Given the description of an element on the screen output the (x, y) to click on. 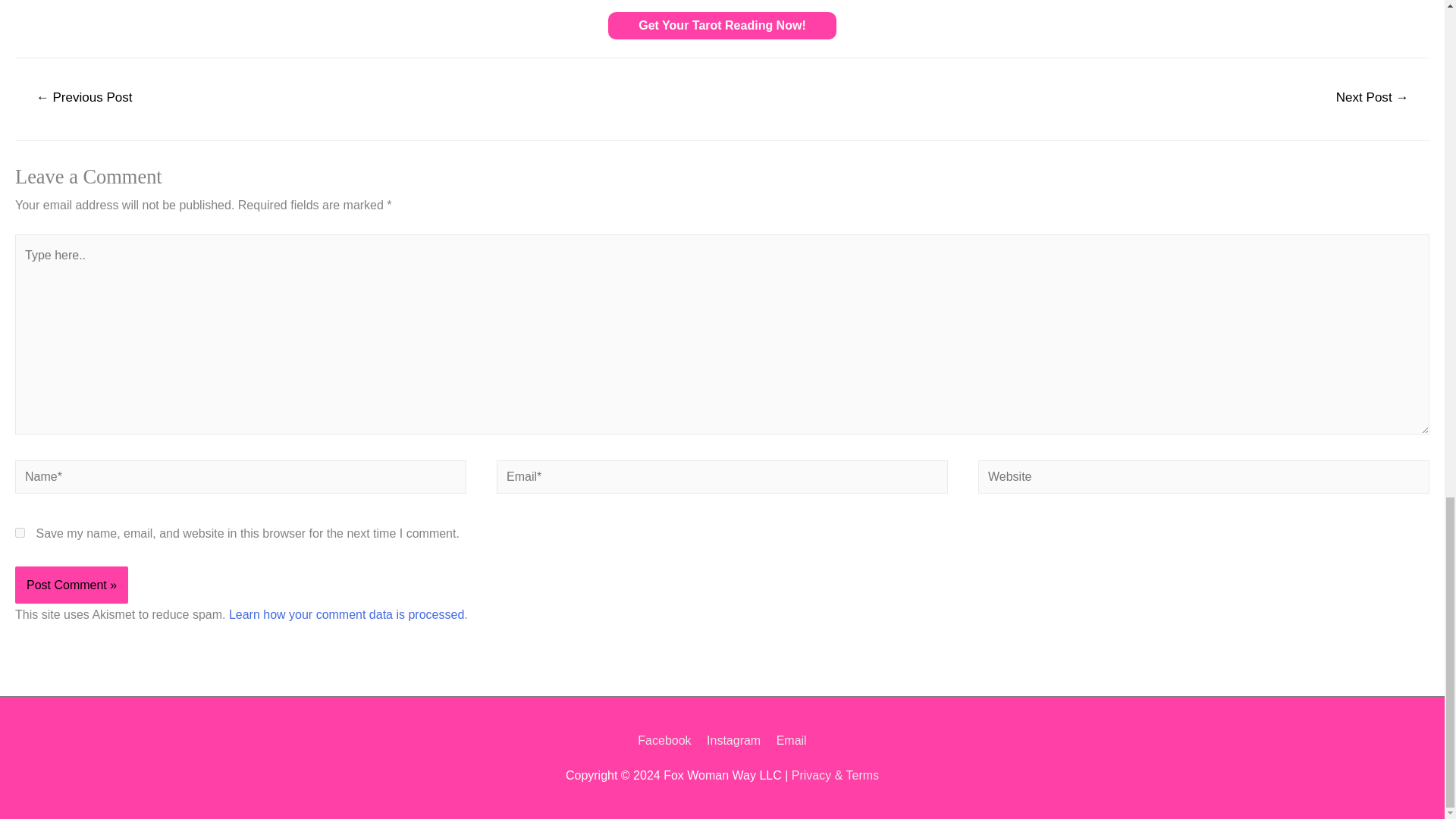
yes (19, 532)
Instagram (733, 739)
Email (788, 739)
Facebook (667, 739)
Get Your Tarot Reading Now! (721, 25)
Learn how your comment data is processed (346, 614)
